Given the description of an element on the screen output the (x, y) to click on. 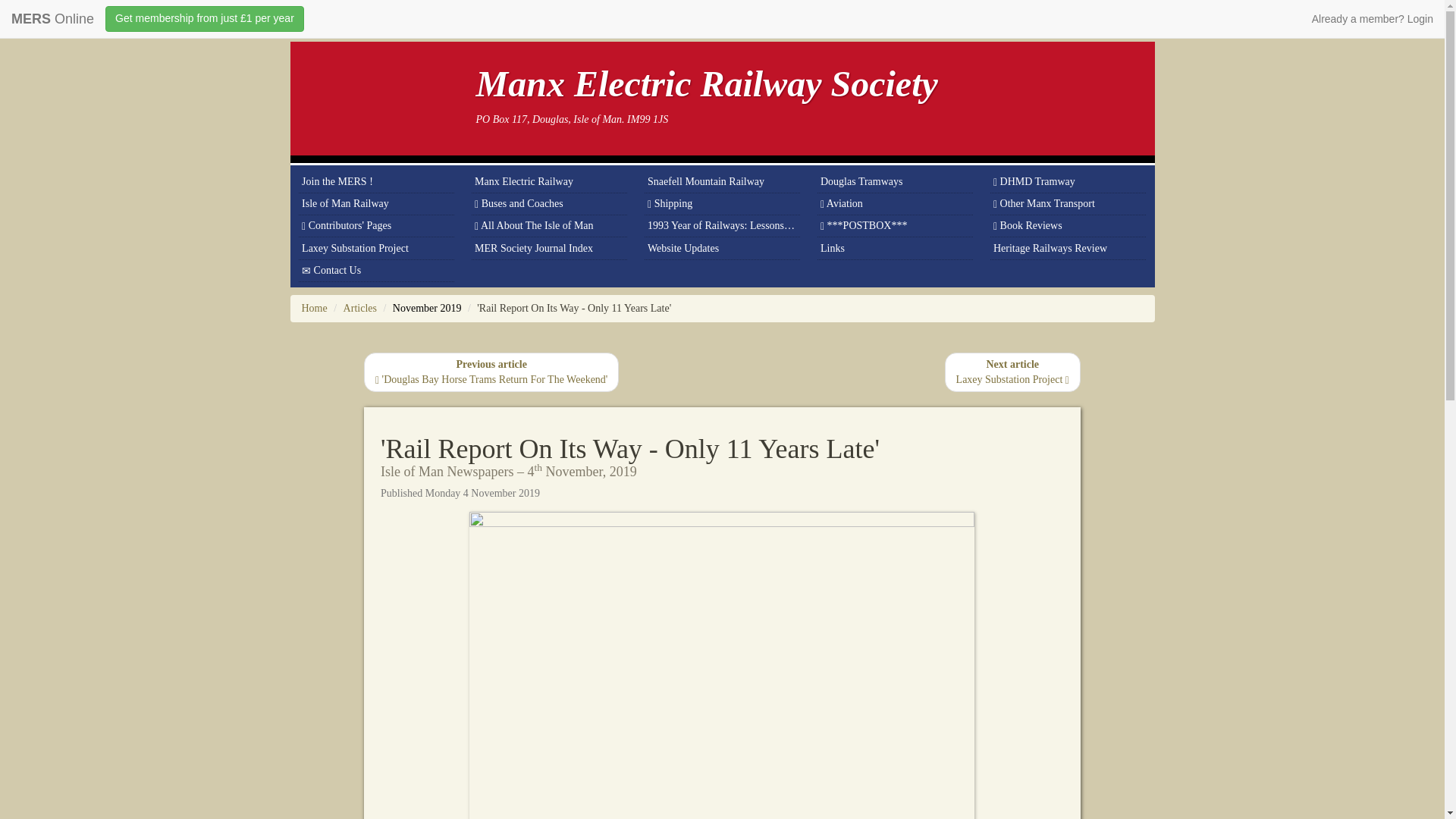
Contributors' Pages (376, 226)
Other Manx Transport (1067, 204)
Articles (360, 307)
Contact Us (376, 270)
Douglas Tramways (894, 181)
DHMD Tramway (1067, 181)
Join the MERS ! (376, 181)
Aviation (894, 204)
Buses and Coaches (549, 204)
